Given the description of an element on the screen output the (x, y) to click on. 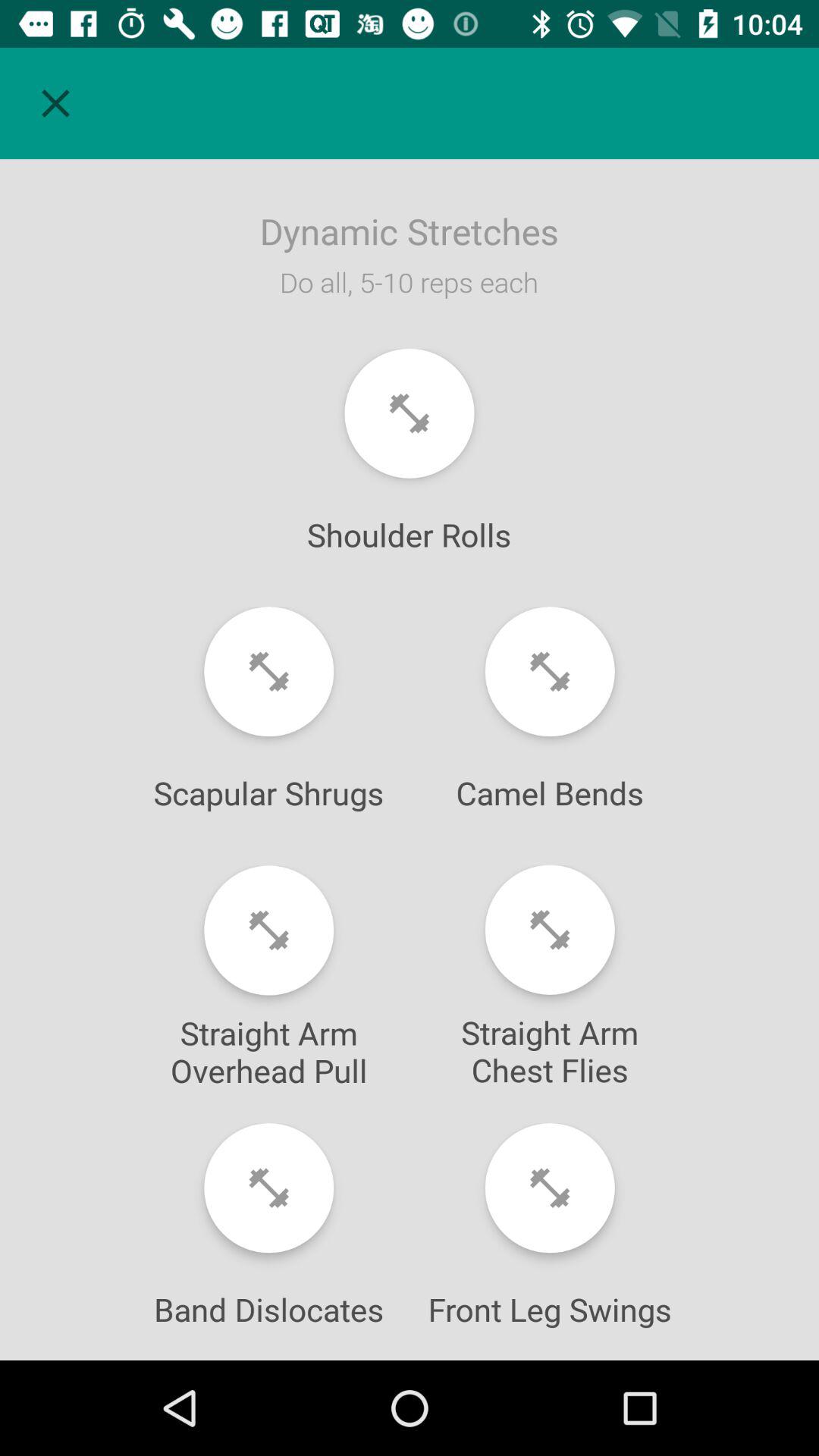
select exercise (549, 929)
